Given the description of an element on the screen output the (x, y) to click on. 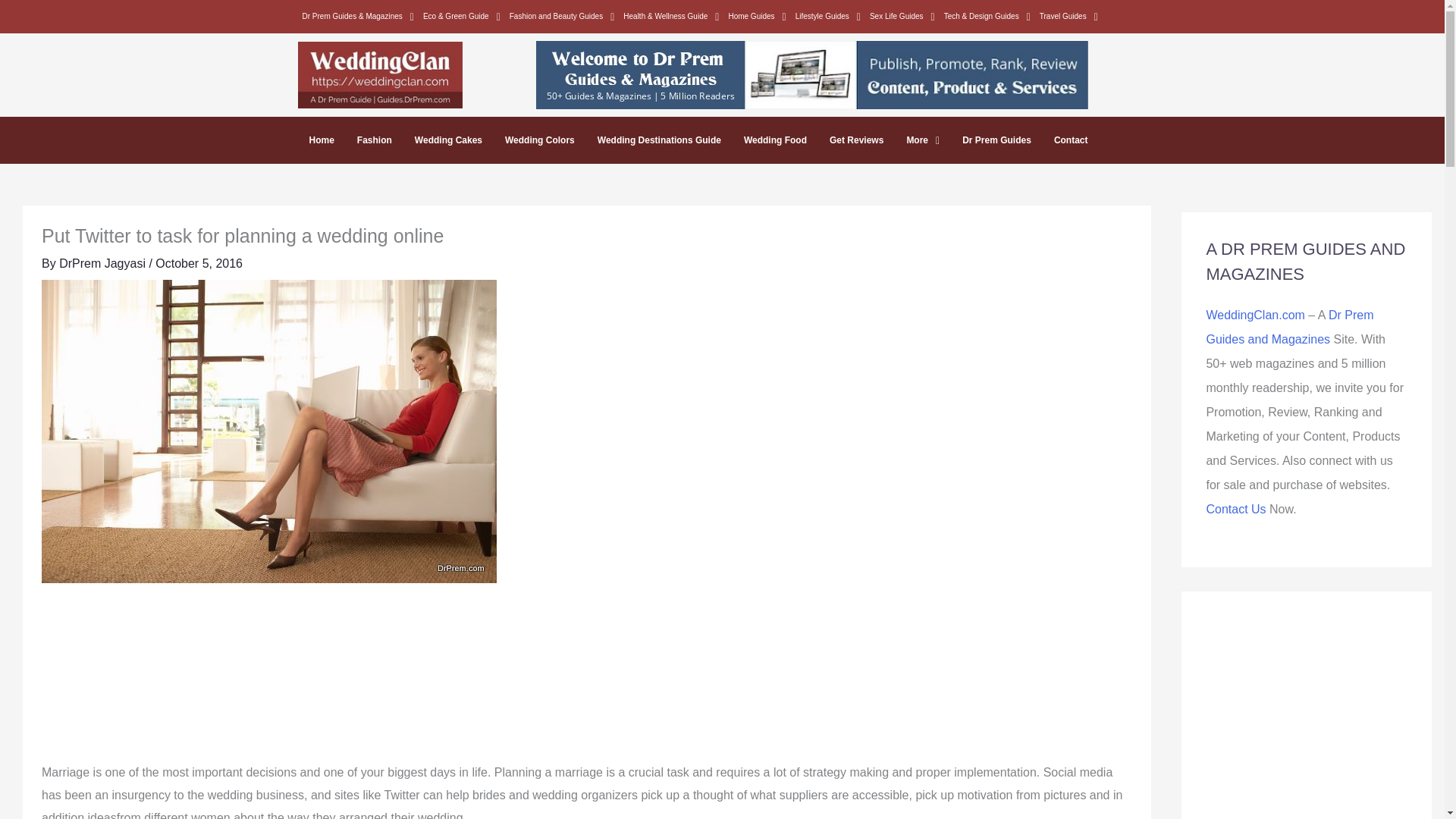
View all posts by DrPrem Jagyasi (103, 263)
Fashion and Beauty Guides (562, 16)
Advertisement (1306, 717)
Lifestyle Guides (827, 16)
Home Guides (756, 16)
Advertisement (587, 680)
